Given the description of an element on the screen output the (x, y) to click on. 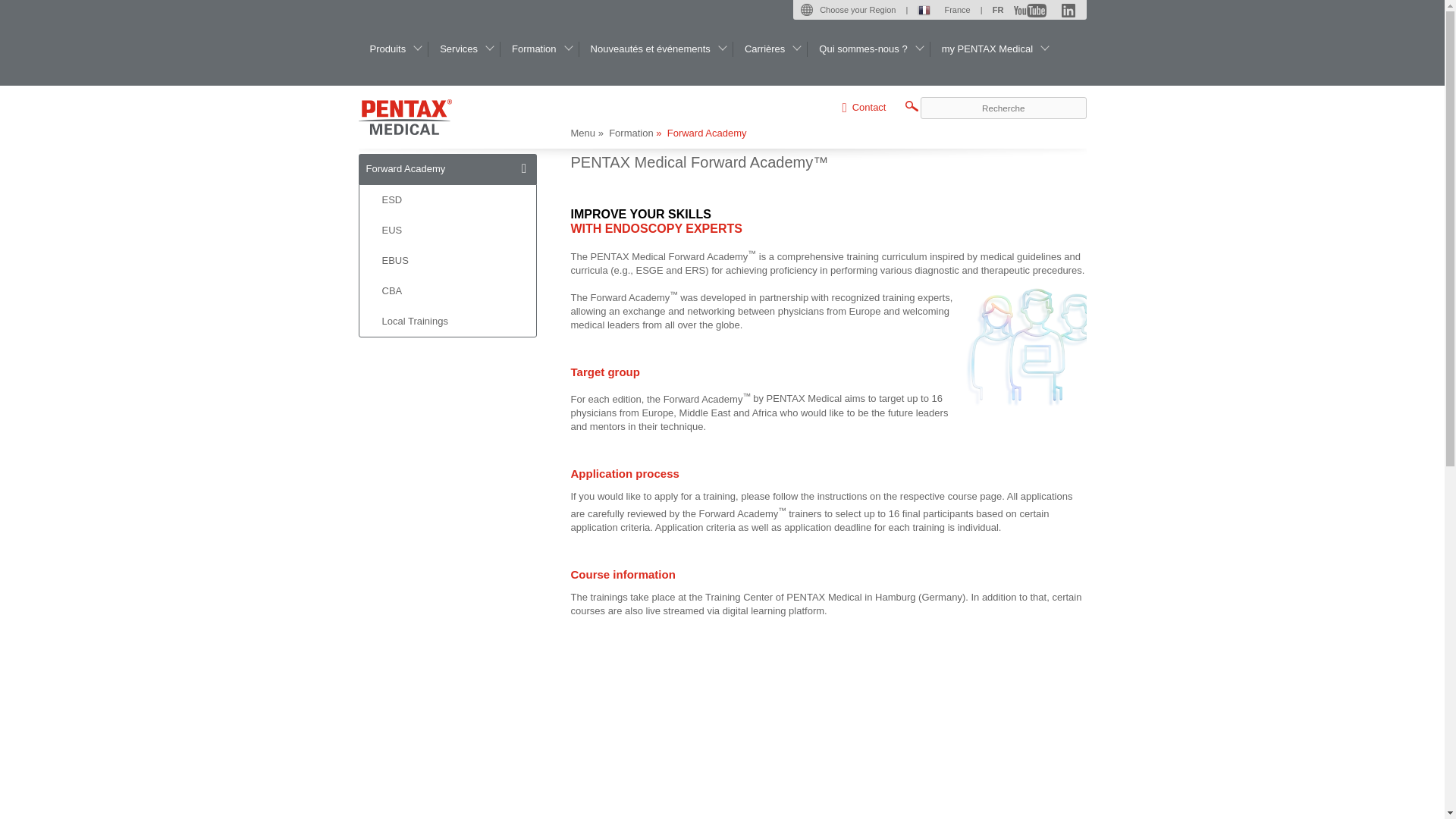
YouTube video player (828, 746)
Contact (863, 107)
FR (998, 9)
France (943, 9)
Produits (393, 48)
